Given the description of an element on the screen output the (x, y) to click on. 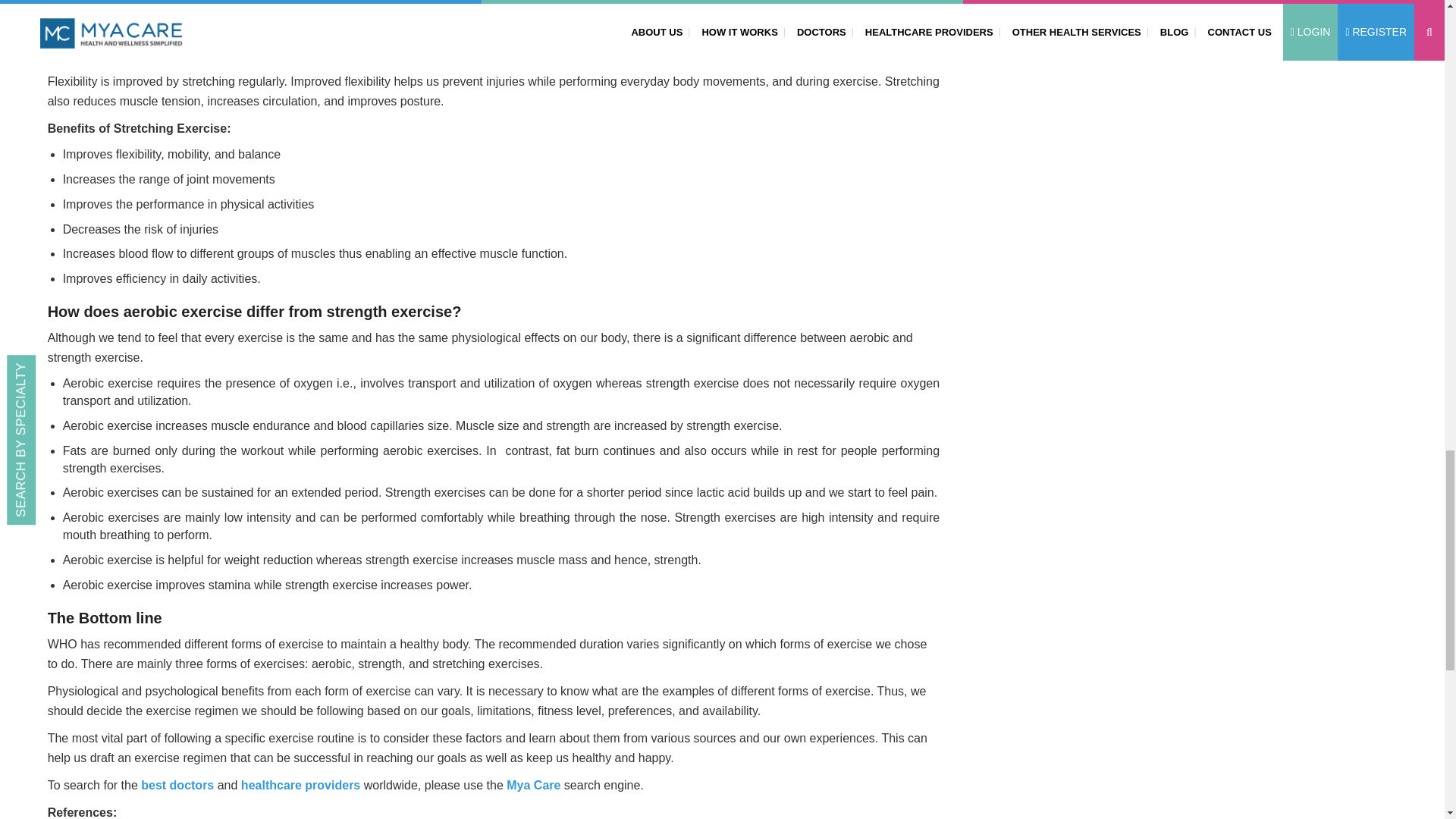
healthcare providers (300, 784)
mood (486, 4)
best doctors (177, 784)
sleep (131, 27)
